Given the description of an element on the screen output the (x, y) to click on. 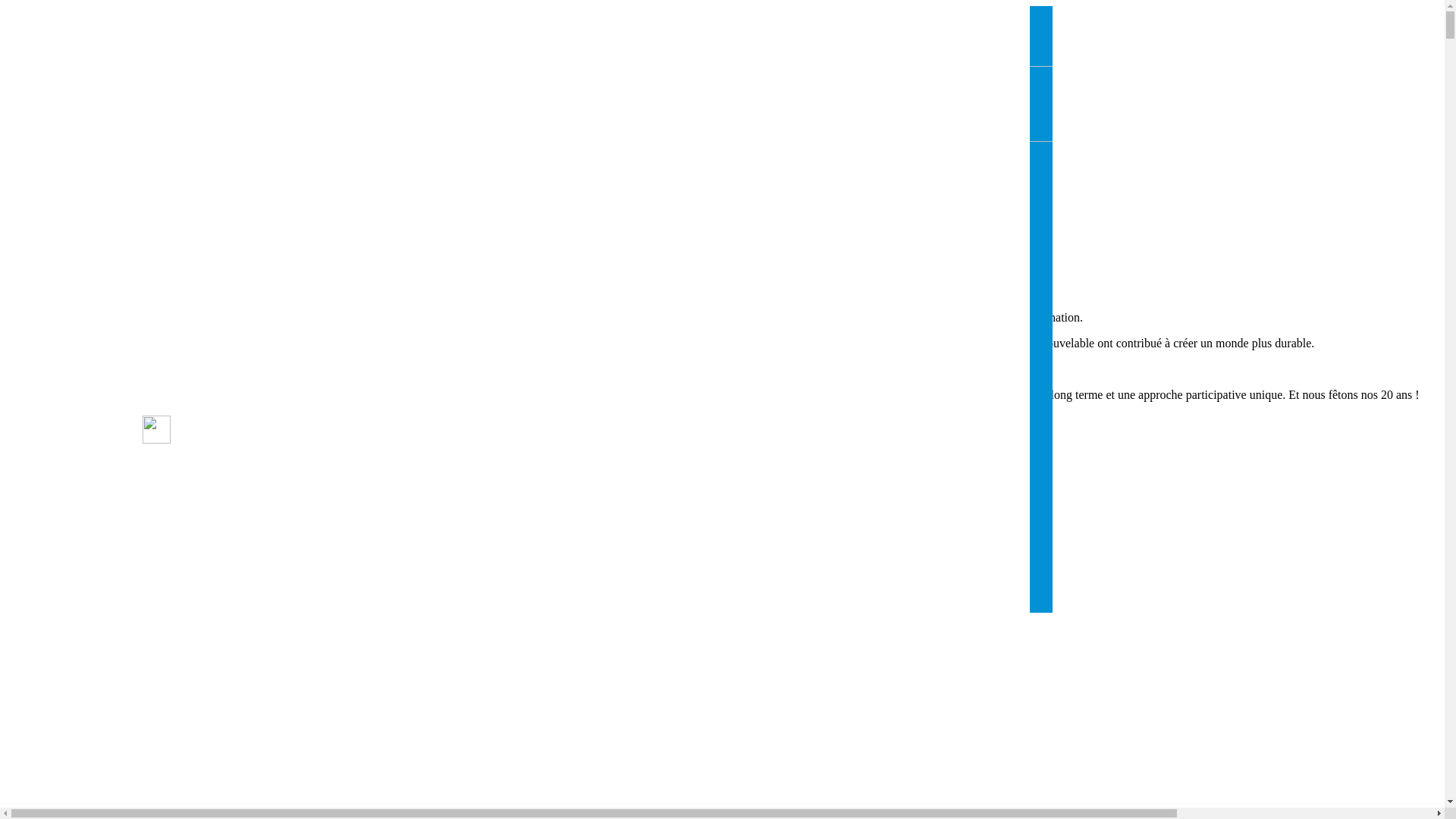
Page suivante Element type: text (43, 706)
Fermer le sidemenu Element type: text (57, 754)
Basculer l'audio Element type: text (47, 722)
Retour Element type: text (27, 631)
Fermer le sidemenu Element type: text (57, 770)
Ouvrir la navigation Element type: text (55, 676)
New video Element type: hover (119, 76)
Aller au contenu Element type: text (46, 645)
